Given the description of an element on the screen output the (x, y) to click on. 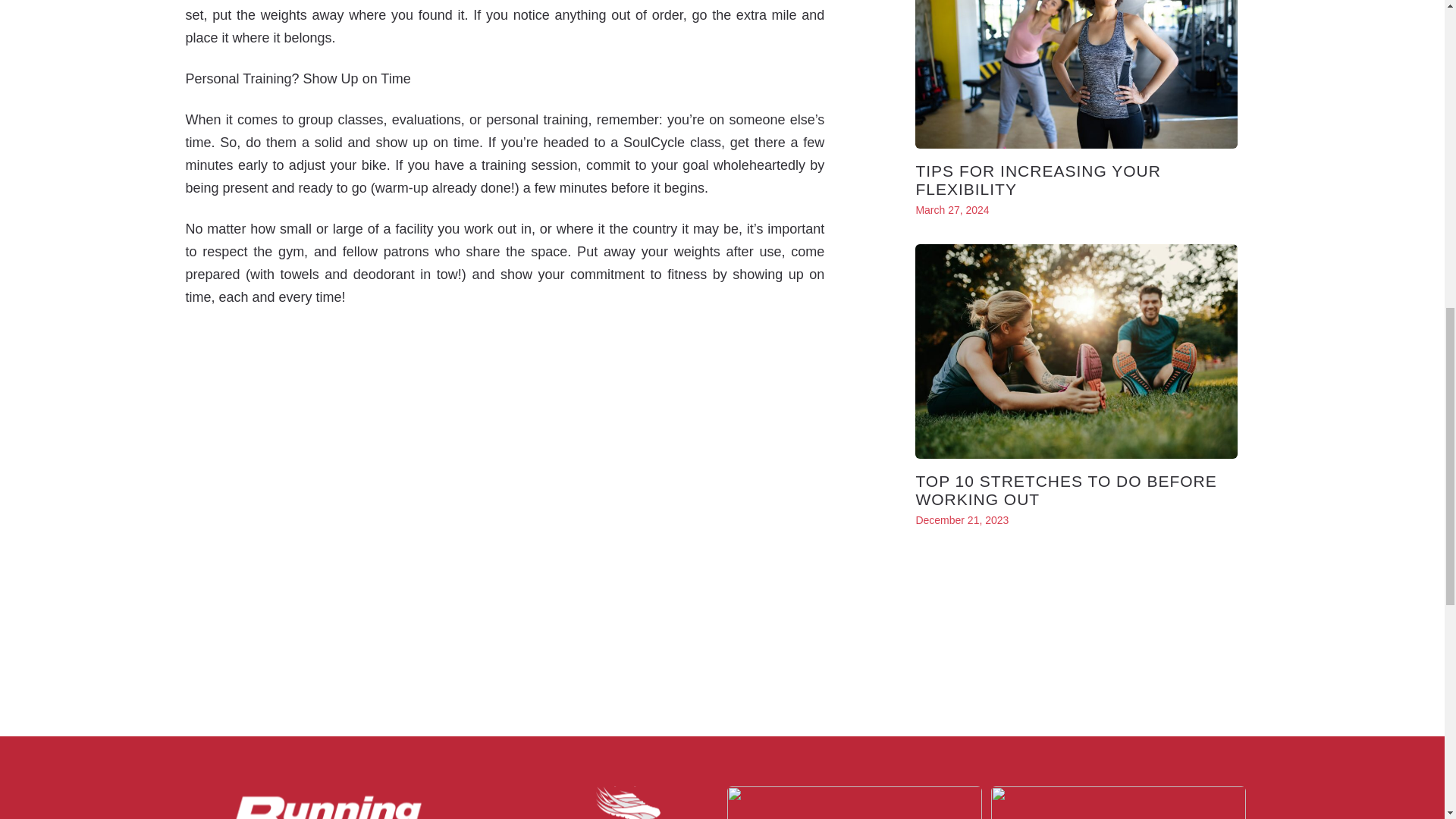
2023-12-21T12:00:00-08:00 (962, 520)
TIPS FOR INCREASING YOUR FLEXIBILITY (1037, 180)
2024-03-27T08:38:34-07:00 (951, 209)
December 21, 2023 (962, 520)
TOP 10 STRETCHES TO DO BEFORE WORKING OUT (1065, 489)
March 27, 2024 (951, 209)
